Given the description of an element on the screen output the (x, y) to click on. 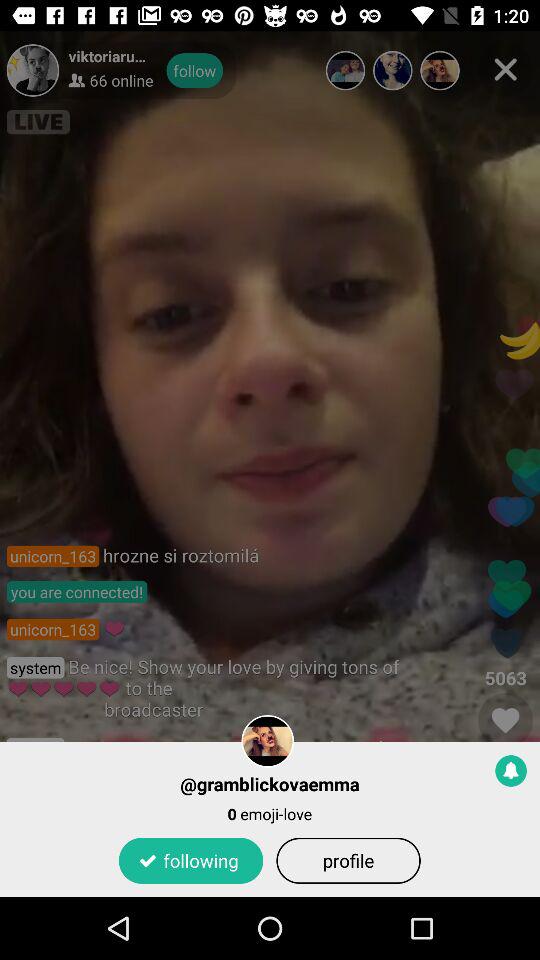
select the app to the right of @gramblickovaemma item (511, 770)
